Given the description of an element on the screen output the (x, y) to click on. 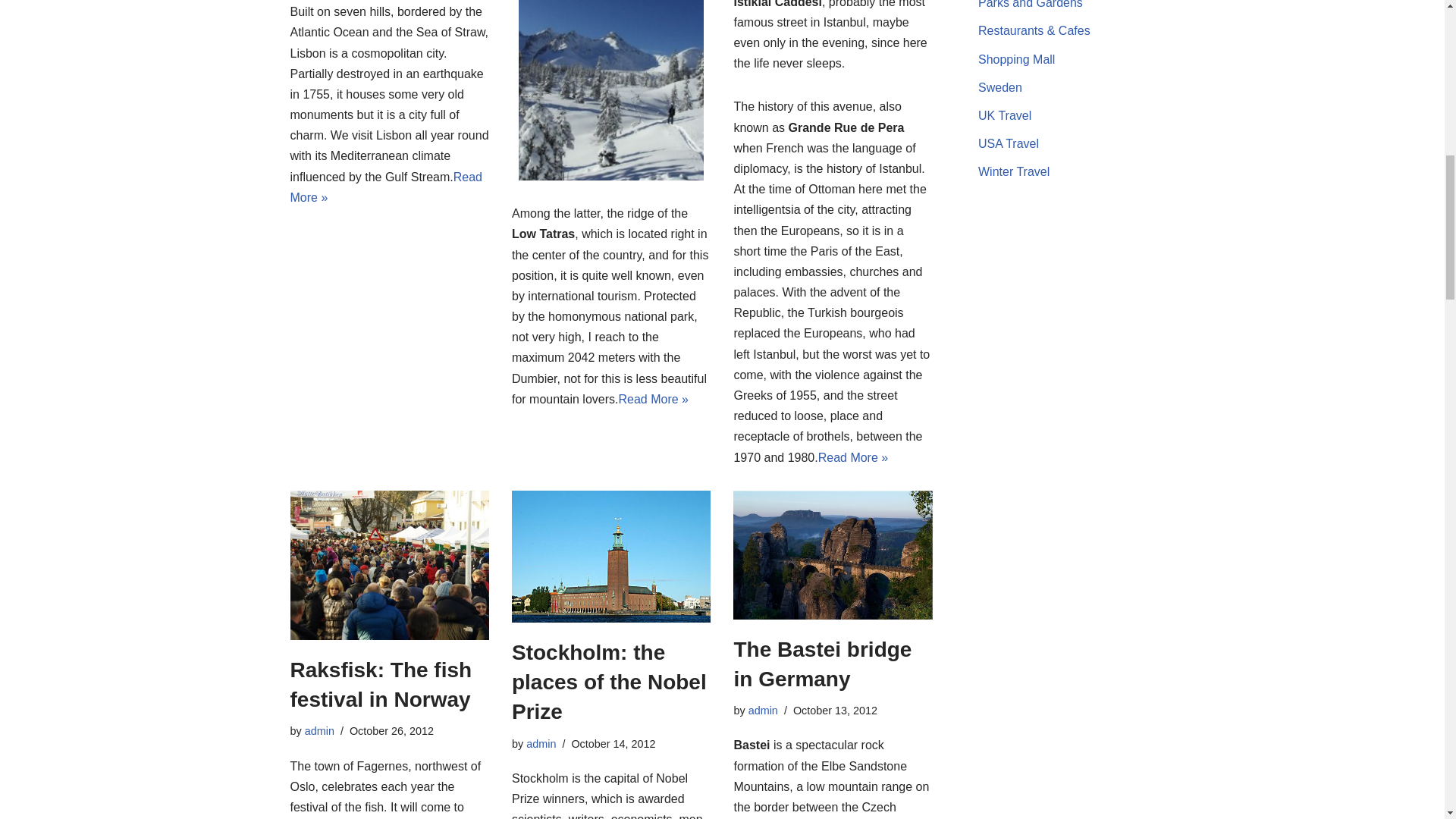
admin (319, 730)
Low Tatras mountain (610, 90)
The Bastei bridge in Germany (832, 554)
Posts by admin (540, 743)
Posts by admin (762, 710)
Stockholm: the places of the Nobel Prize (609, 681)
Raksfisk: The fish festival in Norway (380, 684)
Posts by admin (319, 730)
admin (540, 743)
admin (762, 710)
Stockholm: the places of the Nobel Prize (611, 556)
The Bastei bridge in Germany (822, 664)
Raksfisk: The fish festival in Norway (388, 564)
